Given the description of an element on the screen output the (x, y) to click on. 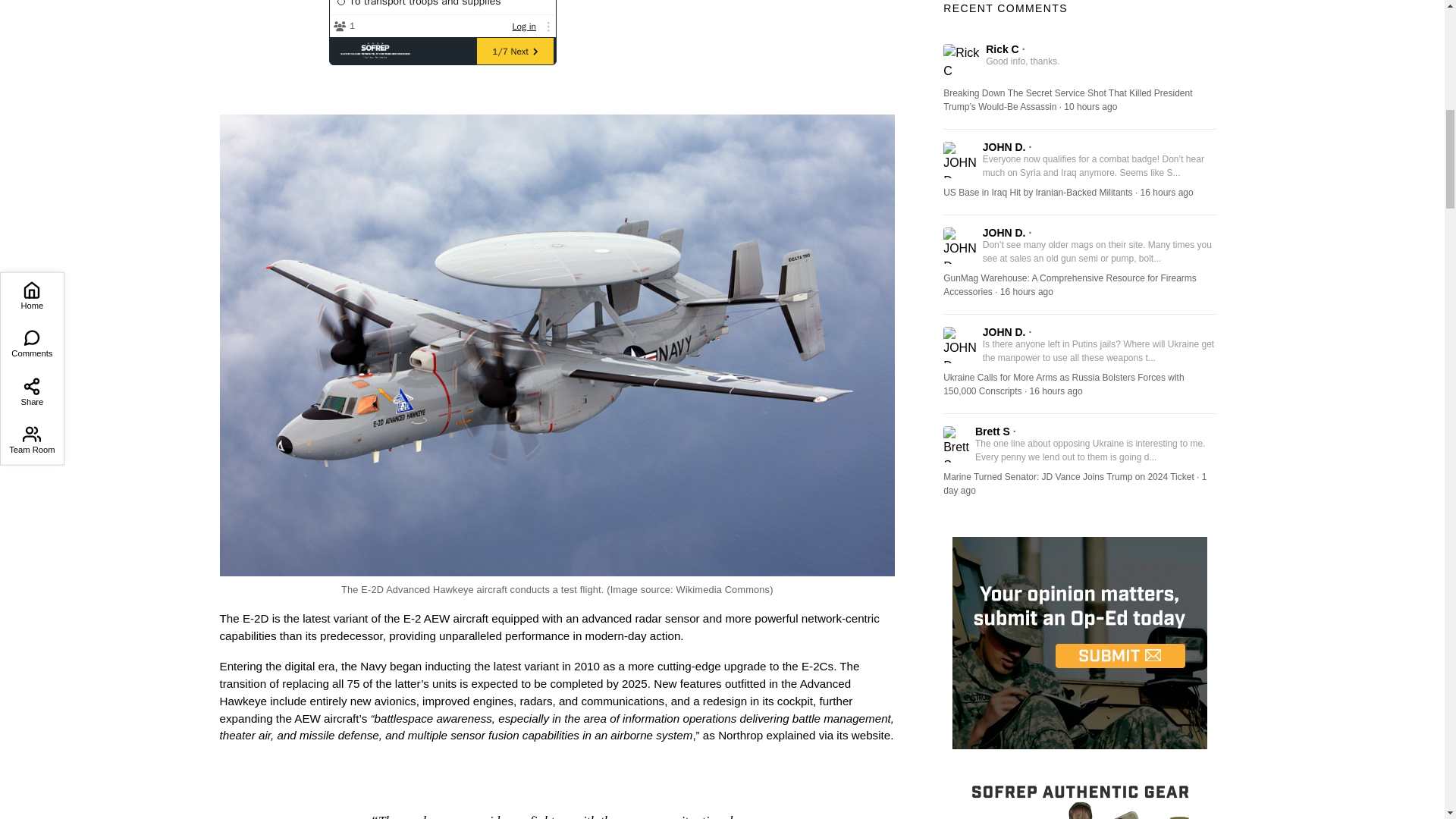
Vuukle Quiz Widget (442, 32)
3rd party ad content (670, 33)
